Given the description of an element on the screen output the (x, y) to click on. 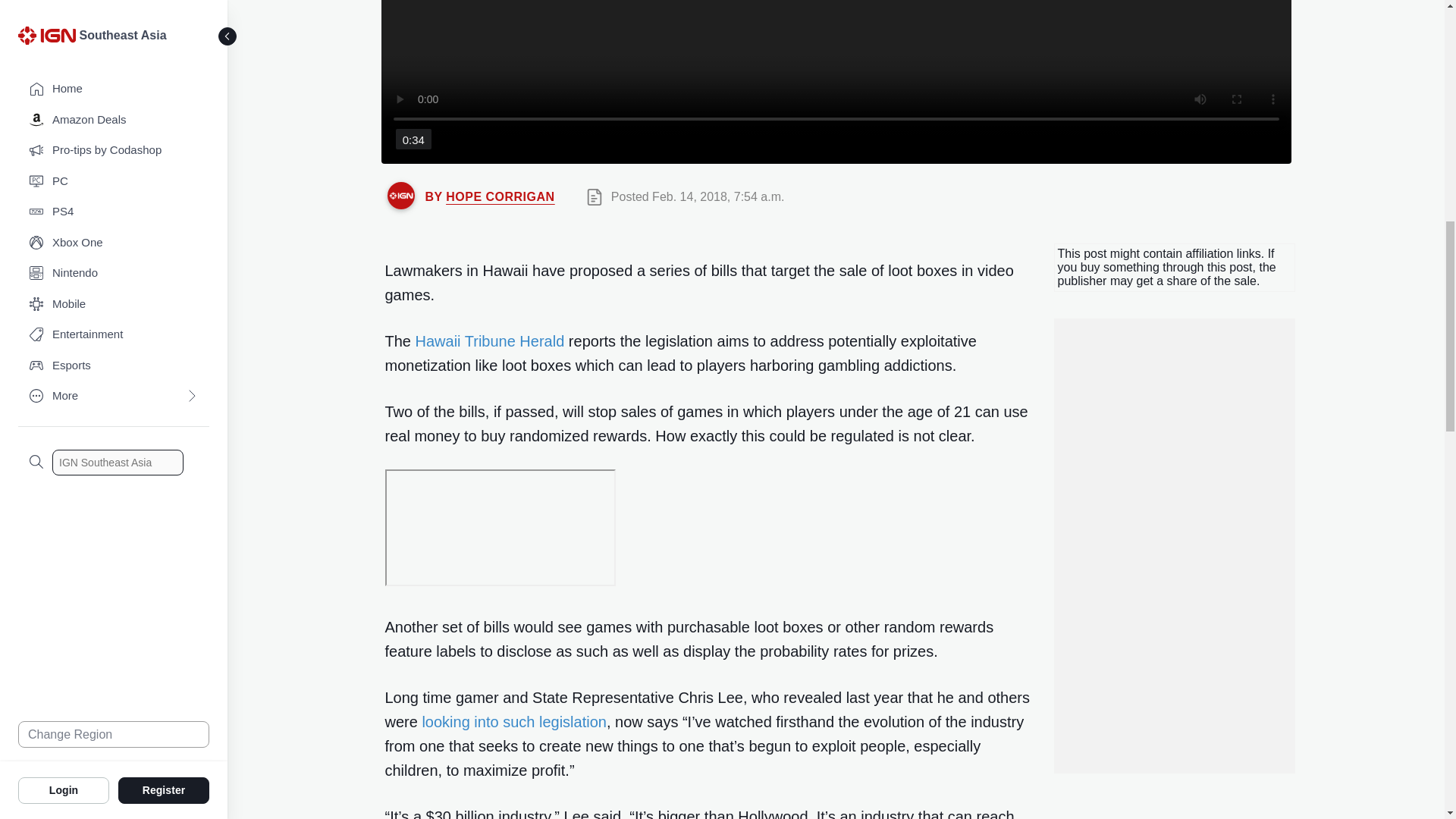
HOPE CORRIGAN (499, 196)
